Given the description of an element on the screen output the (x, y) to click on. 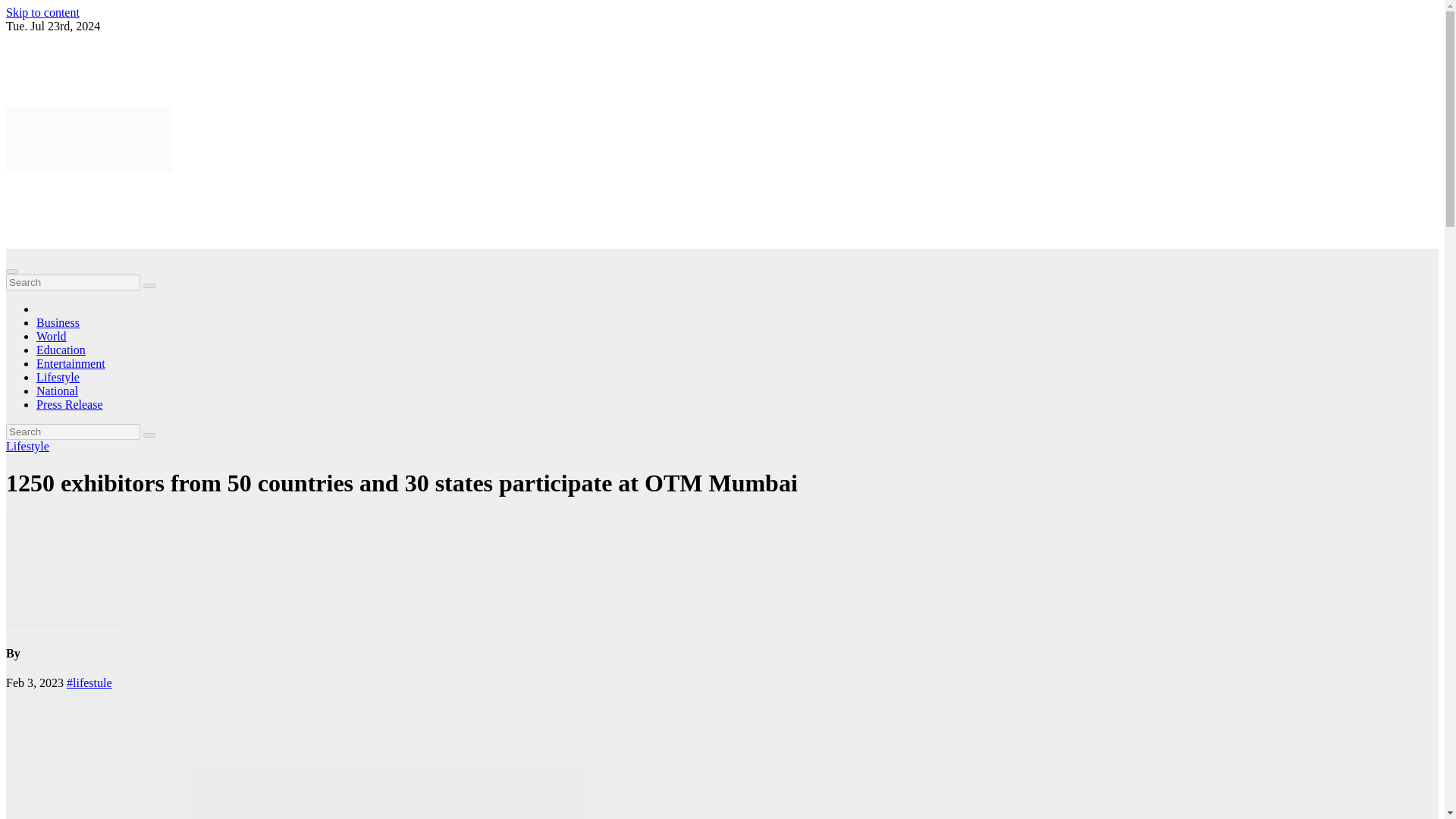
Press Release (69, 404)
Business (58, 322)
Lifestyle (58, 377)
Lifestyle (27, 445)
Education (60, 349)
Entertainment (70, 363)
Education (60, 349)
Business (58, 322)
World (51, 336)
Lifestyle (58, 377)
National (57, 390)
Press Release (69, 404)
World (51, 336)
